Given the description of an element on the screen output the (x, y) to click on. 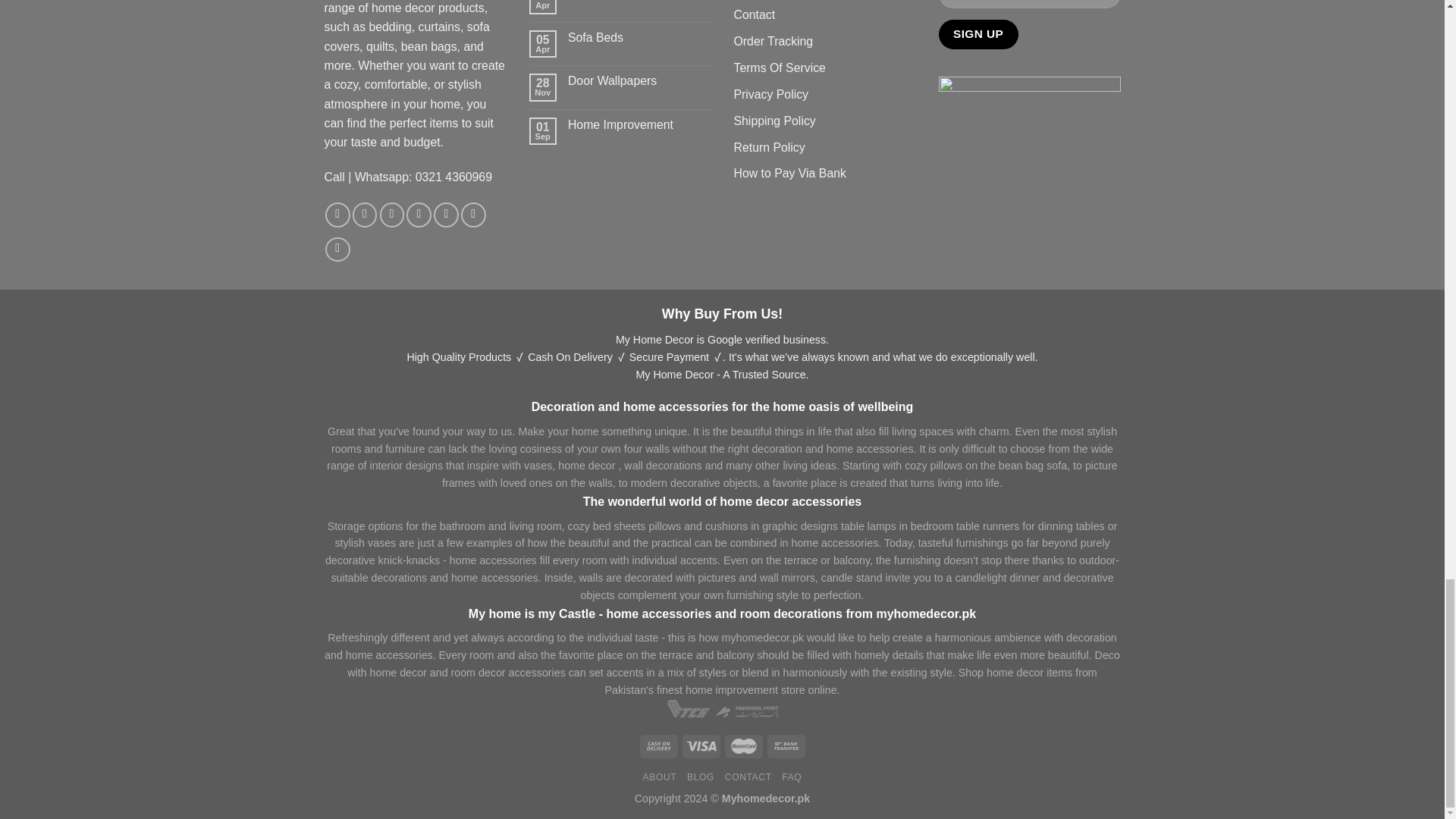
Call us (445, 214)
Follow on Twitter (392, 214)
Sign Up (978, 34)
Follow on Instagram (364, 214)
Send us an email (418, 214)
Follow on Pinterest (473, 214)
Follow on Facebook (337, 214)
